Given the description of an element on the screen output the (x, y) to click on. 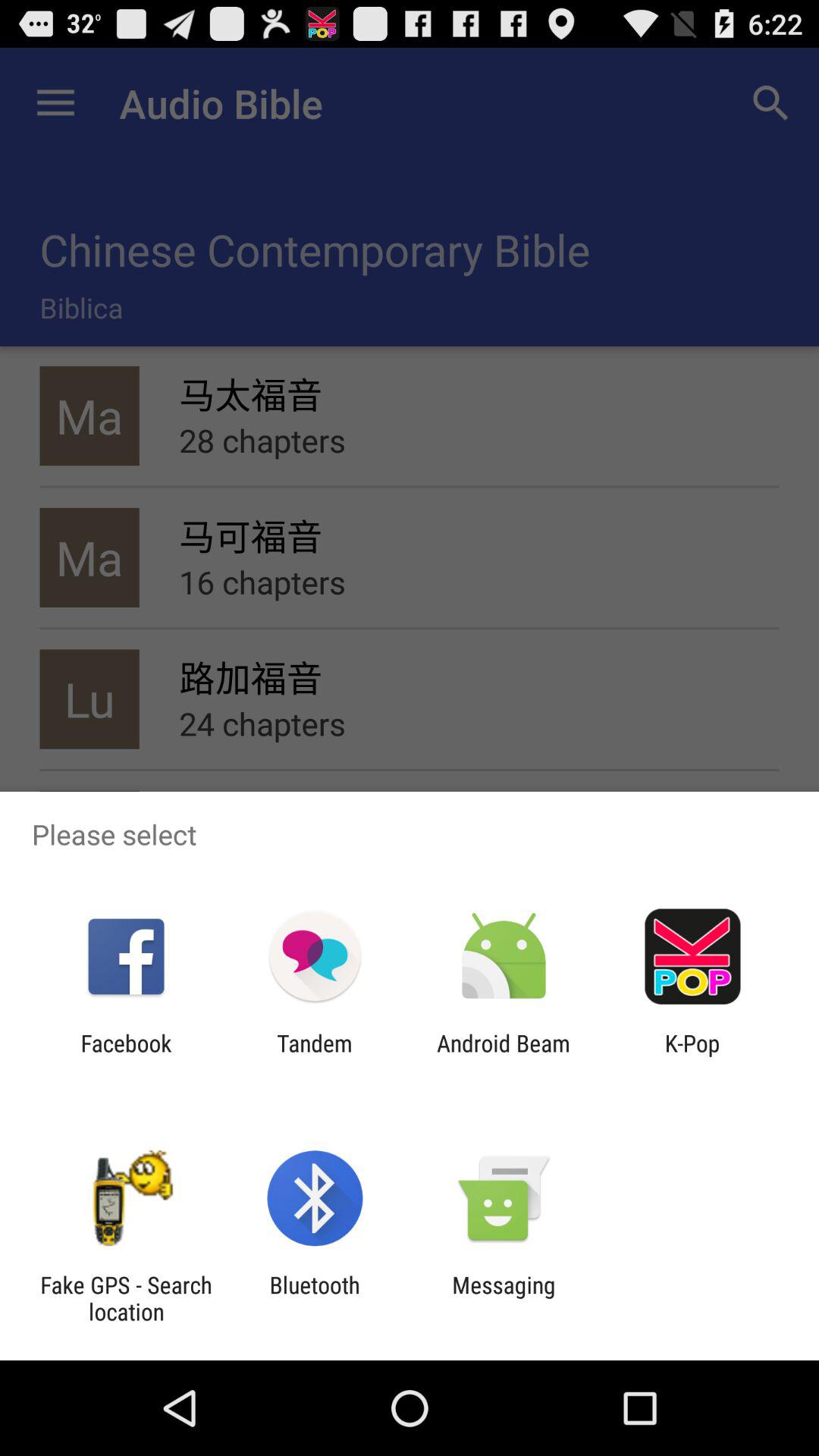
swipe until the bluetooth app (314, 1298)
